Given the description of an element on the screen output the (x, y) to click on. 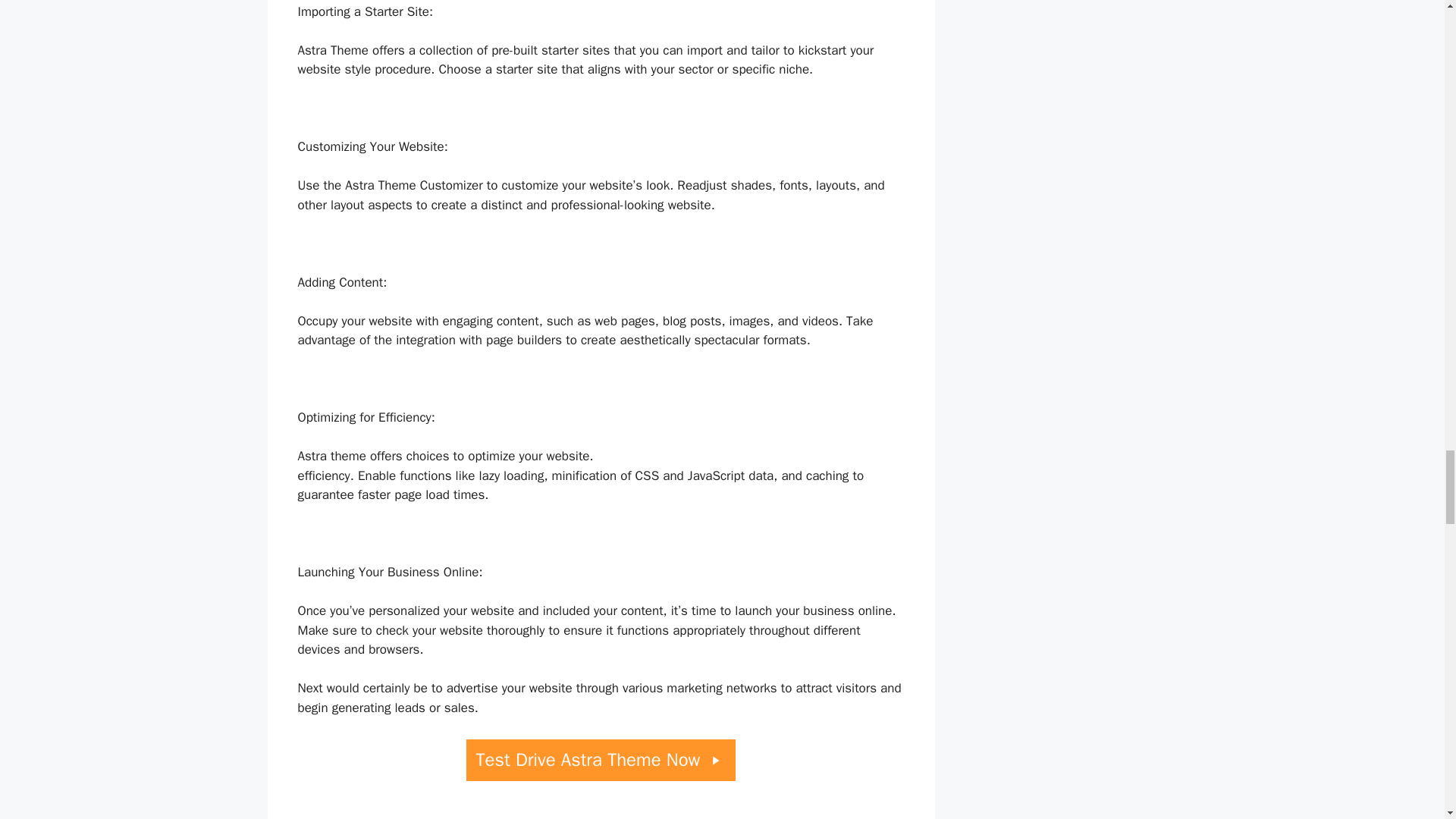
Test Drive Astra Theme Now (600, 760)
